Given the description of an element on the screen output the (x, y) to click on. 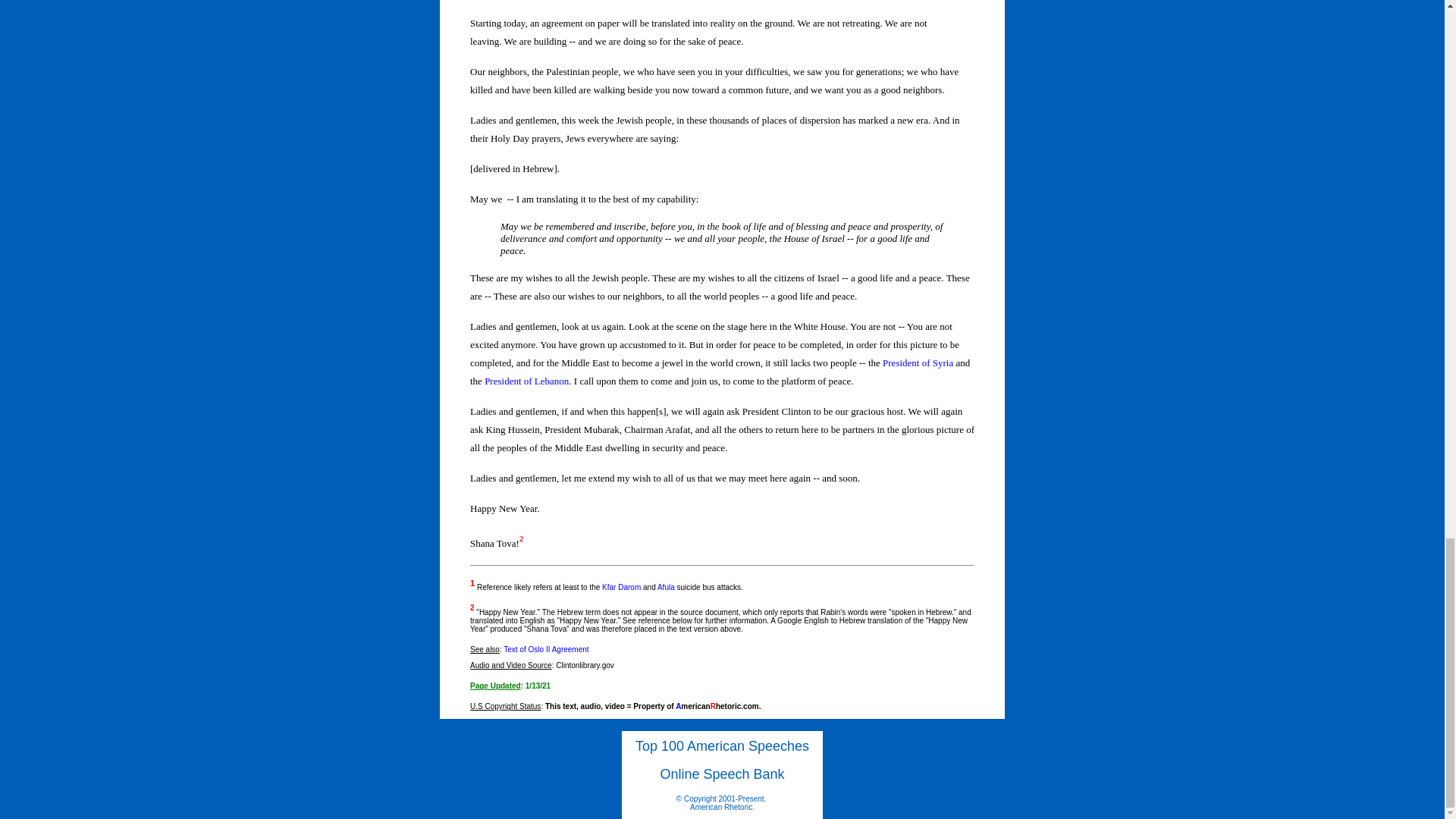
Top 100 American Speeches (721, 745)
Kfar Darom (621, 587)
President of Lebanon (526, 380)
Text of Oslo II Agreement (545, 649)
President of Syria (917, 362)
Online Speech Bank (721, 774)
Afula (666, 587)
